Given the description of an element on the screen output the (x, y) to click on. 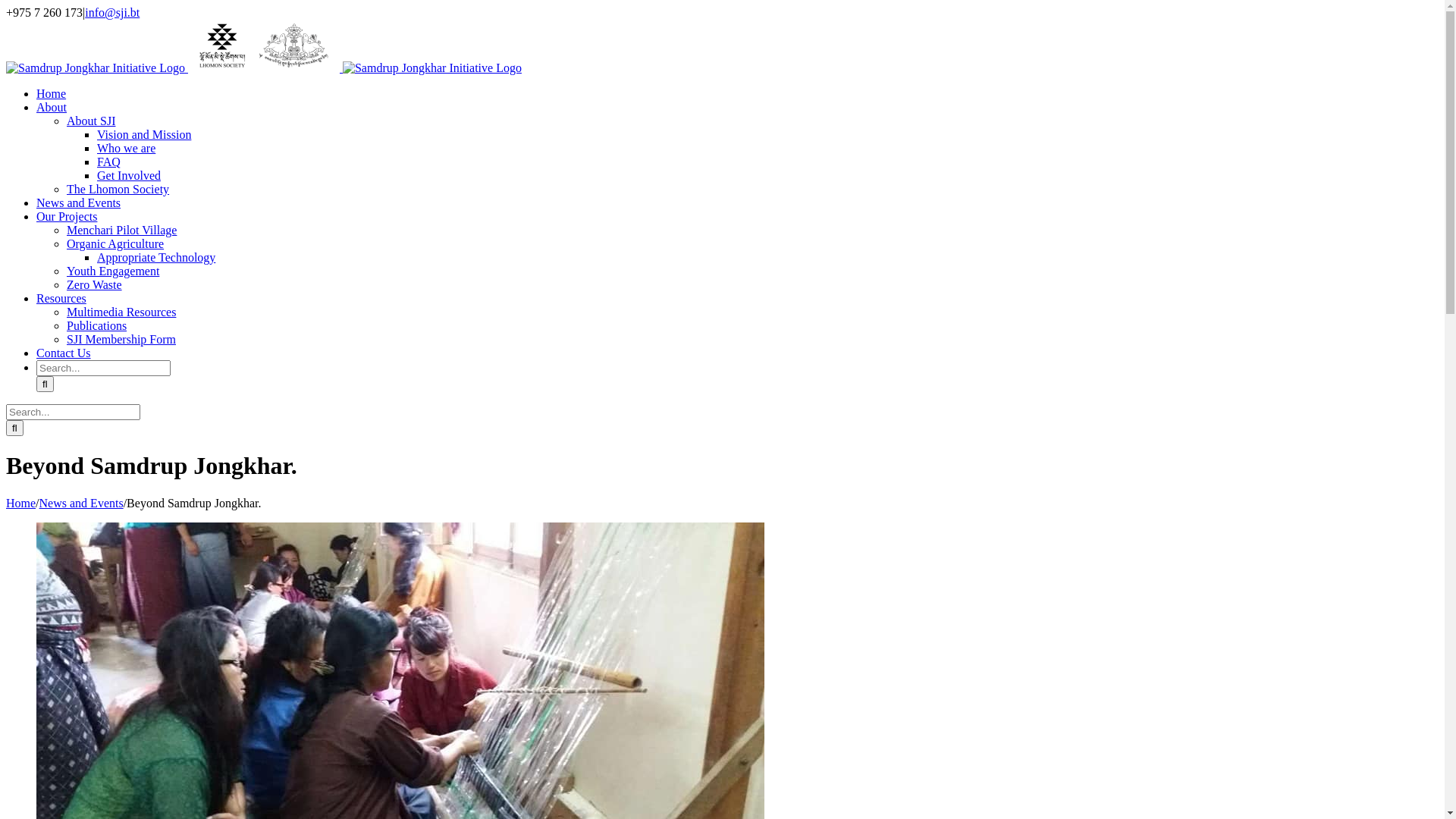
About SJI Element type: text (90, 120)
Home Element type: text (50, 93)
Menchari Pilot Village Element type: text (121, 229)
Youth Engagement Element type: text (112, 270)
News and Events Element type: text (81, 502)
info@sji.bt Element type: text (111, 12)
Appropriate Technology Element type: text (156, 257)
Contact Us Element type: text (63, 352)
SJI Membership Form Element type: text (120, 338)
Home Element type: text (20, 502)
Our Projects Element type: text (66, 216)
Publications Element type: text (96, 325)
FAQ Element type: text (108, 161)
Resources Element type: text (61, 297)
About Element type: text (51, 106)
Get Involved Element type: text (128, 175)
The Lhomon Society Element type: text (117, 188)
Zero Waste Element type: text (94, 284)
Who we are Element type: text (126, 147)
Vision and Mission Element type: text (144, 134)
News and Events Element type: text (78, 202)
Skip to content Element type: text (5, 5)
Multimedia Resources Element type: text (120, 311)
Organic Agriculture Element type: text (114, 243)
